Given the description of an element on the screen output the (x, y) to click on. 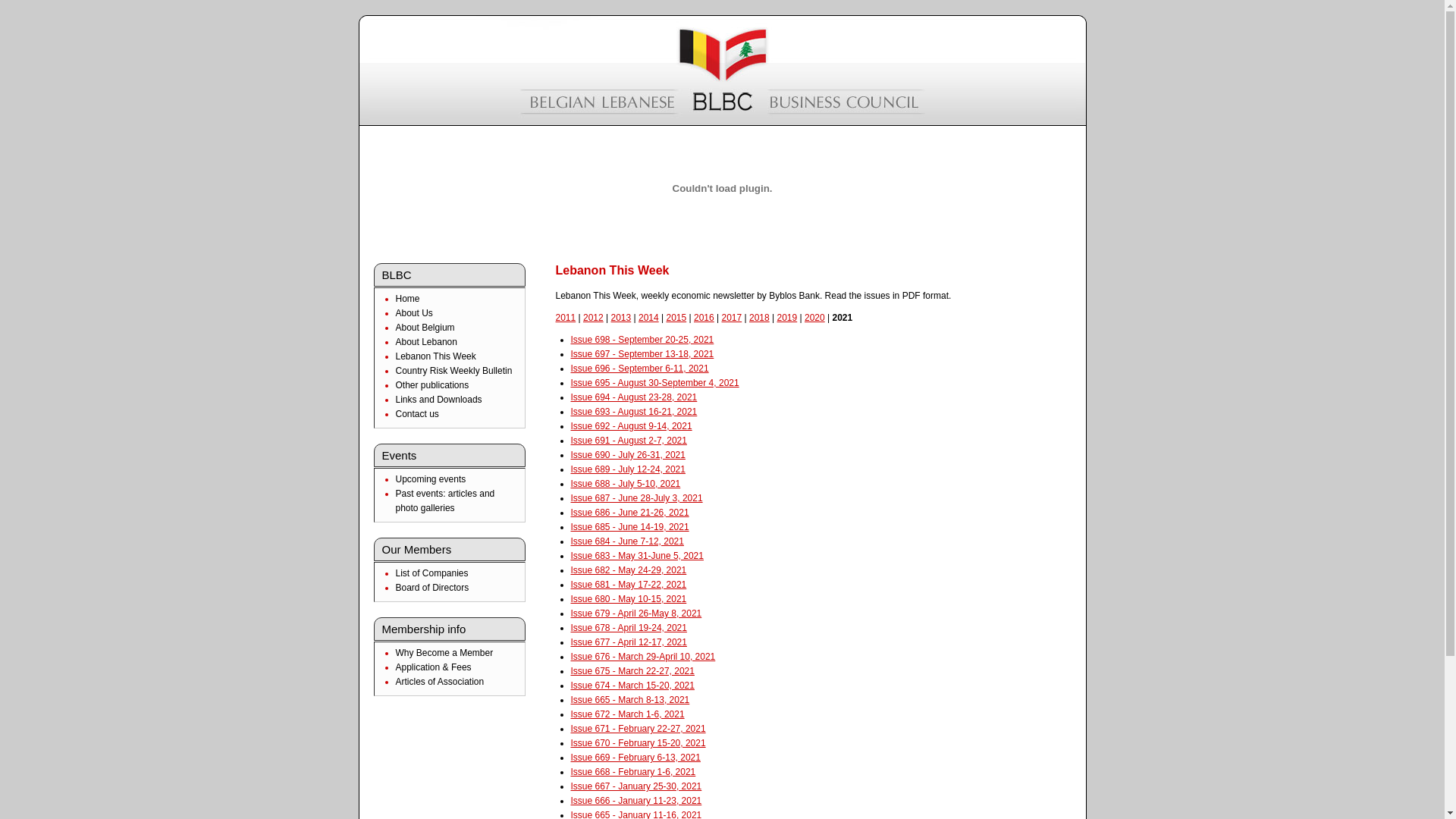
Issue 683 - May 31-June 5, 2021 Element type: text (636, 555)
List of Companies Element type: text (431, 572)
Issue 691 - August 2-7, 2021 Element type: text (628, 440)
Why Become a Member Element type: text (444, 652)
Issue 692 - August 9-14, 2021 Element type: text (630, 425)
2012 Element type: text (593, 317)
About Us Element type: text (414, 312)
Issue 685 - June 14-19, 2021 Element type: text (629, 526)
2013 Element type: text (621, 317)
Issue 693 - August 16-21, 2021 Element type: text (633, 411)
Issue 697 - September 13-18, 2021 Element type: text (641, 353)
Issue 674 - March 15-20, 2021 Element type: text (631, 685)
Issue 666 - January 11-23, 2021 Element type: text (635, 800)
2017 Element type: text (731, 317)
2018 Element type: text (759, 317)
2015 Element type: text (675, 317)
Issue 671 - February 22-27, 2021 Element type: text (637, 728)
2014 Element type: text (648, 317)
Issue 686 - June 21-26, 2021 Element type: text (629, 512)
Issue 678 - April 19-24, 2021 Element type: text (628, 627)
Issue 681 - May 17-22, 2021 Element type: text (628, 584)
Issue 665 - March 8-13, 2021 Element type: text (629, 699)
Issue 682 - May 24-29, 2021 Element type: text (628, 569)
Issue 669 - February 6-13, 2021 Element type: text (634, 757)
2020 Element type: text (814, 317)
Contact us Element type: text (417, 413)
Issue 672 - March 1-6, 2021 Element type: text (627, 714)
Issue 695 - August 30-September 4, 2021 Element type: text (654, 382)
Issue 689 - July 12-24, 2021 Element type: text (627, 469)
Issue 670 - February 15-20, 2021 Element type: text (637, 742)
Issue 690 - July 26-31, 2021 Element type: text (627, 454)
Lebanon This Week Element type: text (435, 356)
Issue 679 - April 26-May 8, 2021 Element type: text (635, 613)
2011 Element type: text (565, 317)
Articles of Association Element type: text (439, 681)
Upcoming events Element type: text (430, 478)
Home Element type: text (407, 298)
Board of Directors Element type: text (432, 587)
Issue 694 - August 23-28, 2021 Element type: text (633, 397)
About Belgium Element type: text (425, 327)
Country Risk Weekly Bulletin Element type: text (453, 370)
Application & Fees Element type: text (433, 667)
Issue 677 - April 12-17, 2021 Element type: text (628, 642)
2019 Element type: text (786, 317)
Issue 667 - January 25-30, 2021 Element type: text (635, 786)
Issue 688 - July 5-10, 2021 Element type: text (625, 483)
Past events: articles and photo galleries Element type: text (445, 500)
Other publications Element type: text (432, 384)
Issue 696 - September 6-11, 2021 Element type: text (639, 368)
Issue 687 - June 28-July 3, 2021 Element type: text (636, 497)
Issue 675 - March 22-27, 2021 Element type: text (631, 670)
Issue 680 - May 10-15, 2021 Element type: text (628, 598)
Links and Downloads Element type: text (438, 399)
Issue 668 - February 1-6, 2021 Element type: text (632, 771)
Issue 684 - June 7-12, 2021 Element type: text (626, 541)
Issue 698 - September 20-25, 2021 Element type: text (641, 339)
Issue 676 - March 29-April 10, 2021 Element type: text (642, 656)
2016 Element type: text (703, 317)
About Lebanon Element type: text (426, 341)
